Given the description of an element on the screen output the (x, y) to click on. 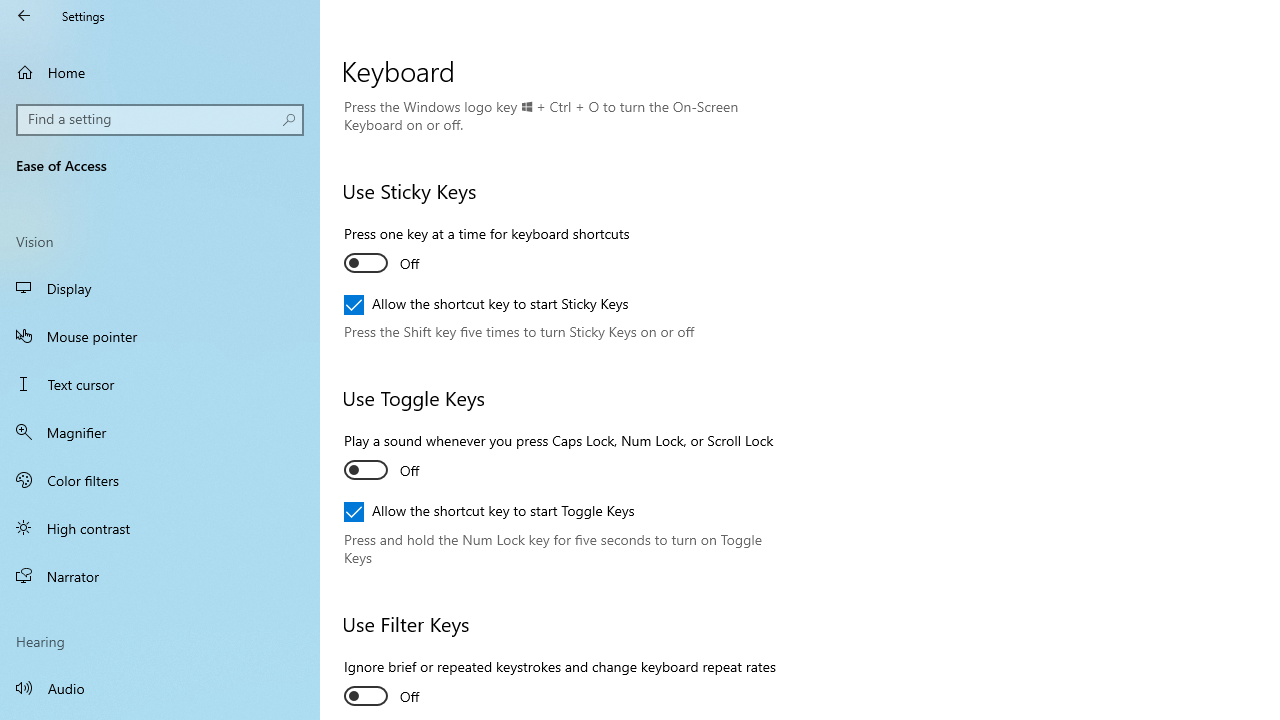
High contrast (160, 527)
Use the On-Screen Keyboard (433, 57)
